Given the description of an element on the screen output the (x, y) to click on. 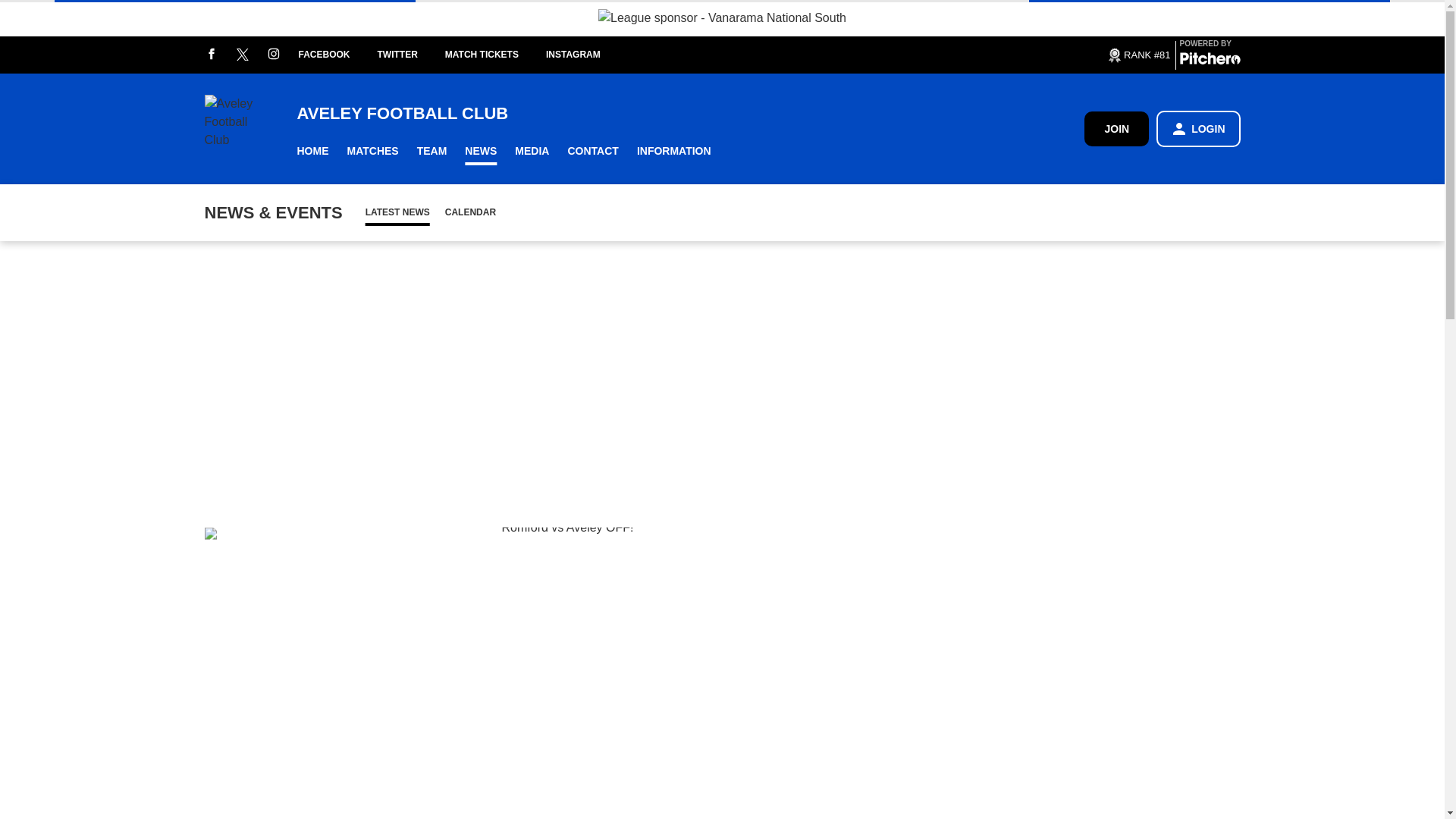
MATCH TICKETS (495, 54)
HOME (312, 151)
FACEBOOK (337, 54)
CONTACT (592, 151)
TEAM (432, 151)
MATCHES (372, 151)
INSTAGRAM (586, 54)
JOIN (1116, 128)
Pitchero Rankings (1137, 54)
AVELEY FOOTBALL CLUB (690, 113)
Pitchero (1209, 61)
INFORMATION (673, 151)
JOIN (1116, 128)
League sponsor - Vanarama National South (721, 18)
NEWS (480, 151)
